Given the description of an element on the screen output the (x, y) to click on. 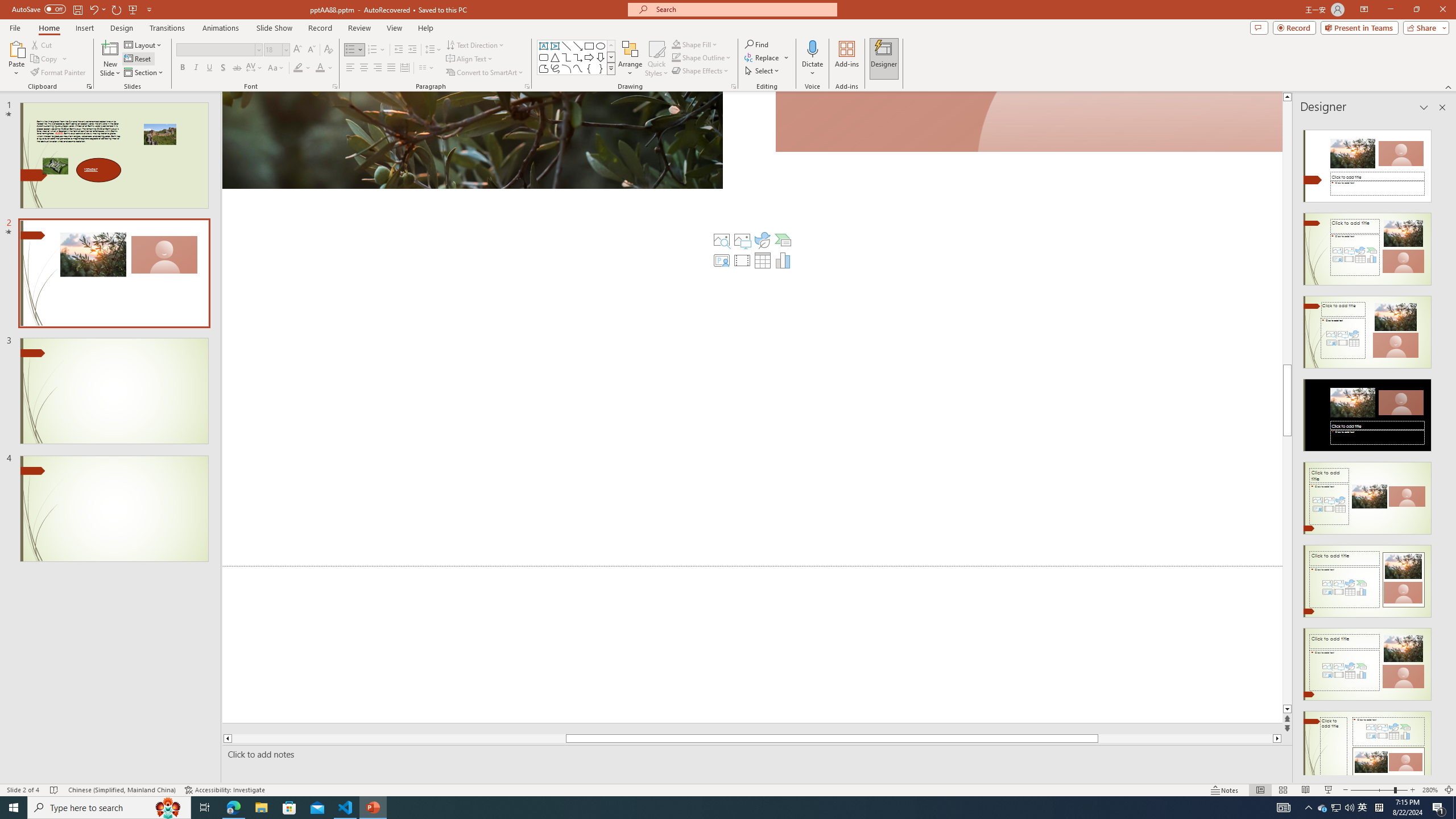
Insert Chart (783, 260)
Shape Outline Teal, Accent 1 (675, 56)
